Given the description of an element on the screen output the (x, y) to click on. 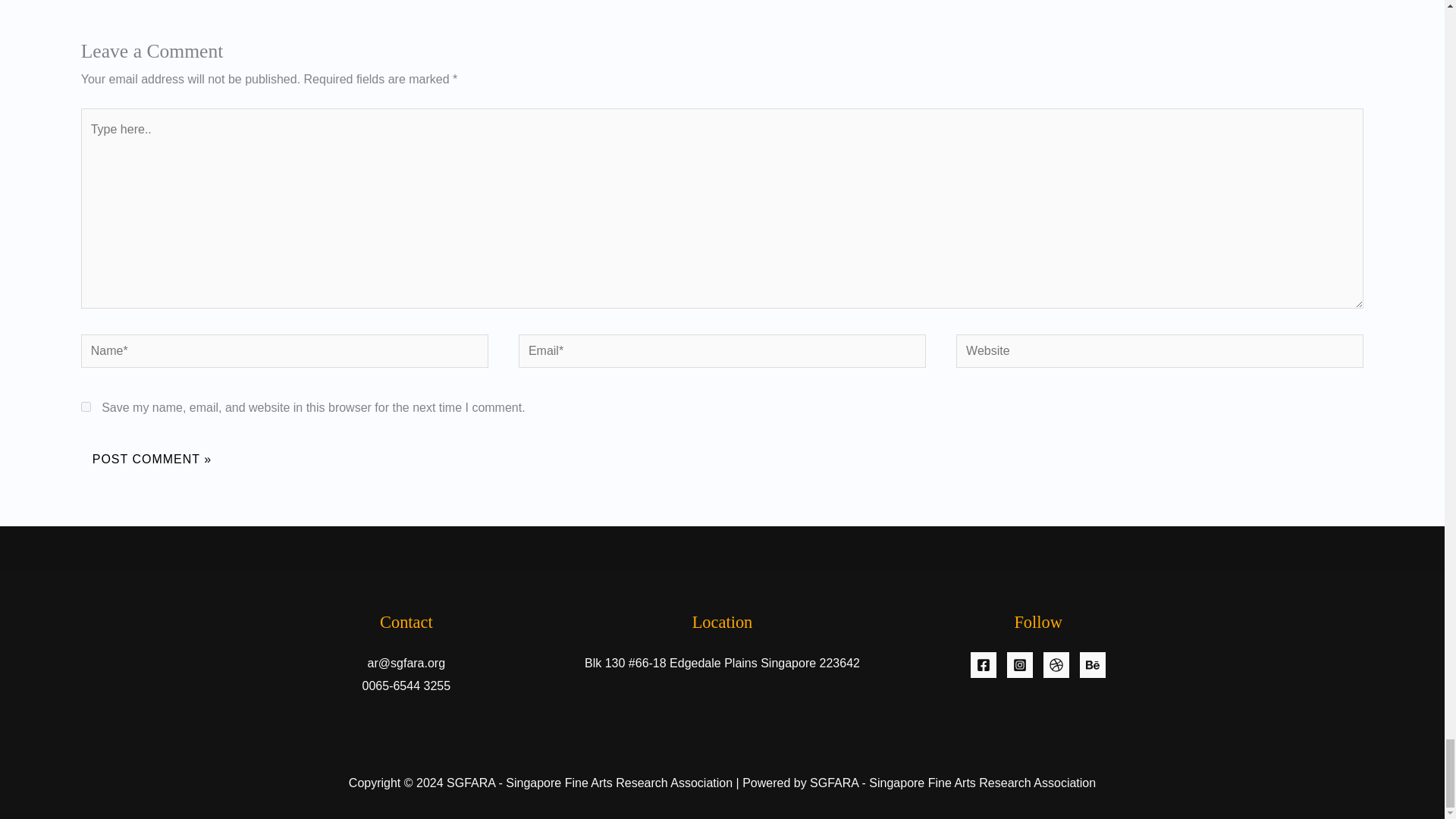
yes (85, 406)
